Given the description of an element on the screen output the (x, y) to click on. 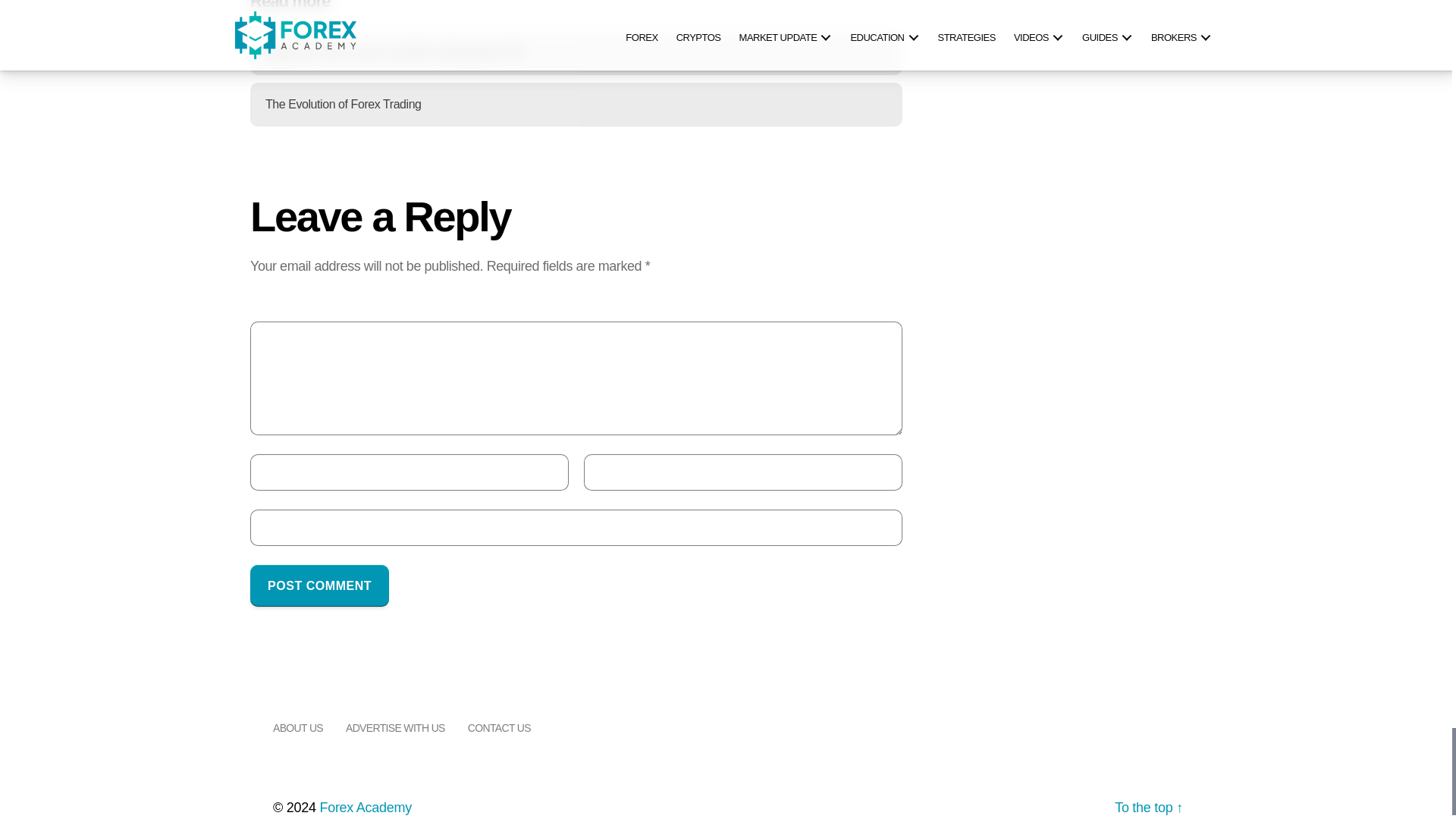
Post Comment (319, 585)
